Given the description of an element on the screen output the (x, y) to click on. 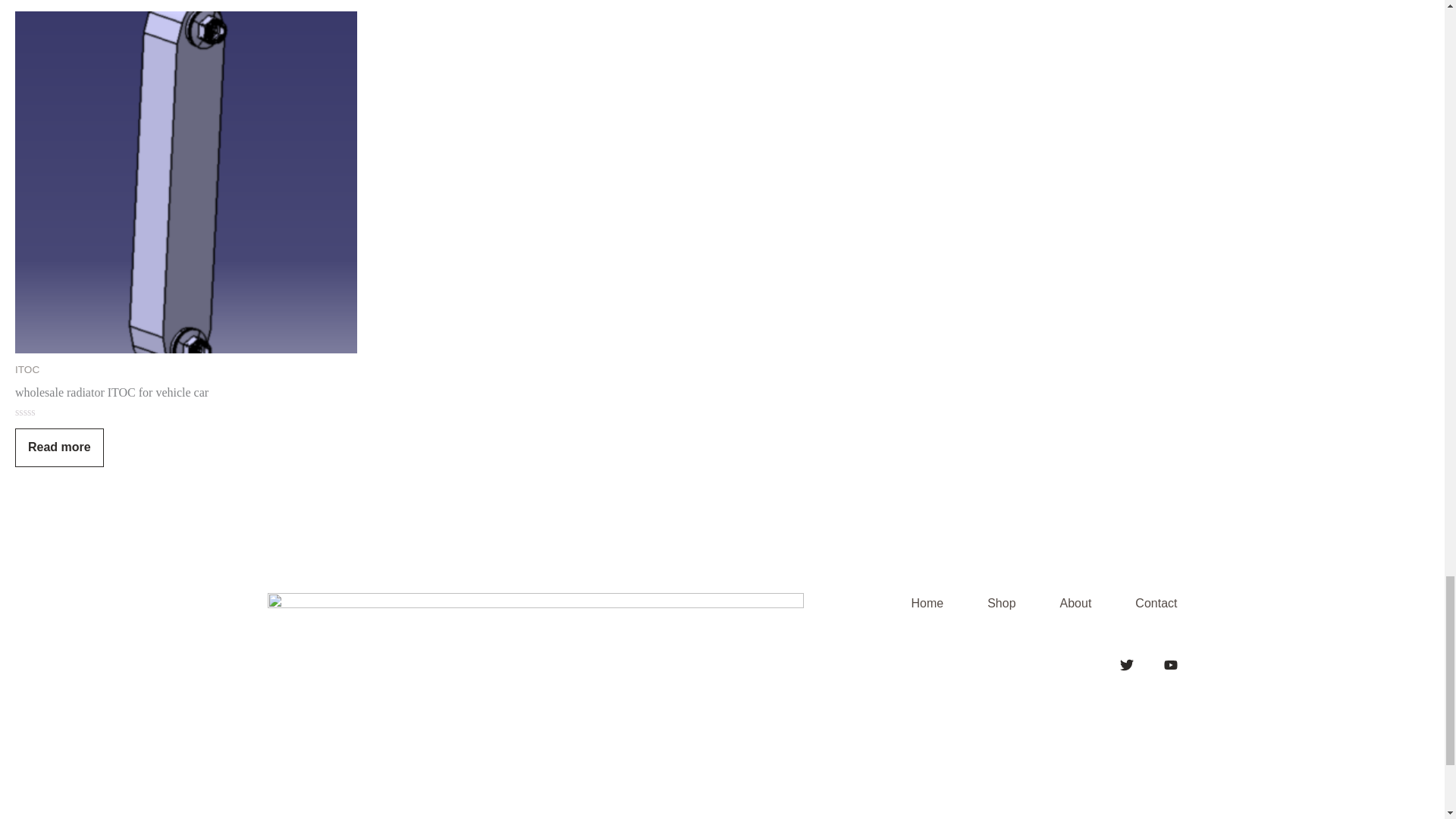
Contact (1136, 603)
Home (910, 603)
Shop (985, 603)
About (1059, 603)
wholesale radiator ITOC for vehicle car (111, 395)
Read more (58, 447)
